Given the description of an element on the screen output the (x, y) to click on. 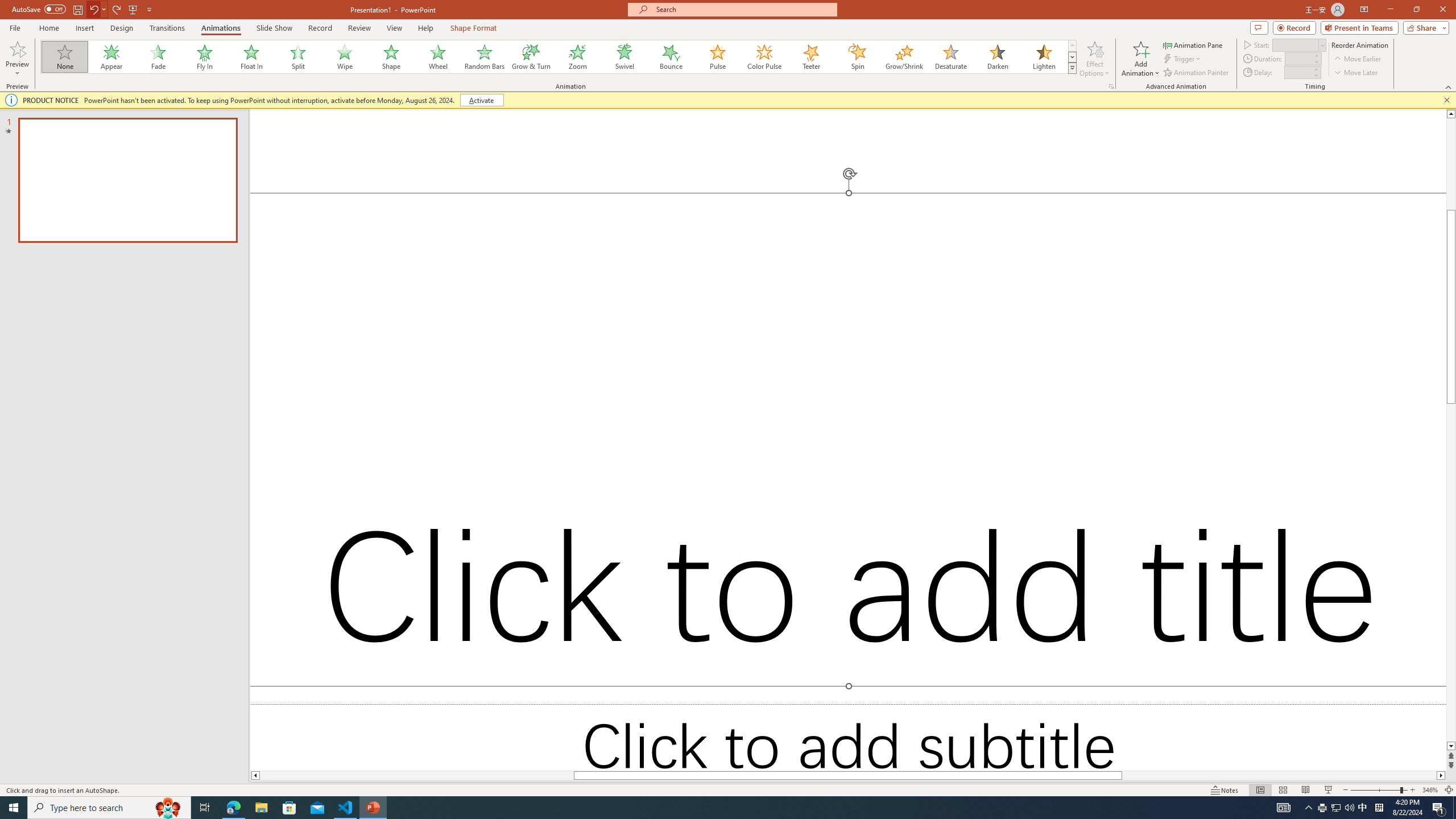
Wipe (344, 56)
Animation Styles (1071, 67)
Color Pulse (764, 56)
Zoom 346% (1430, 790)
Desaturate (950, 56)
